Given the description of an element on the screen output the (x, y) to click on. 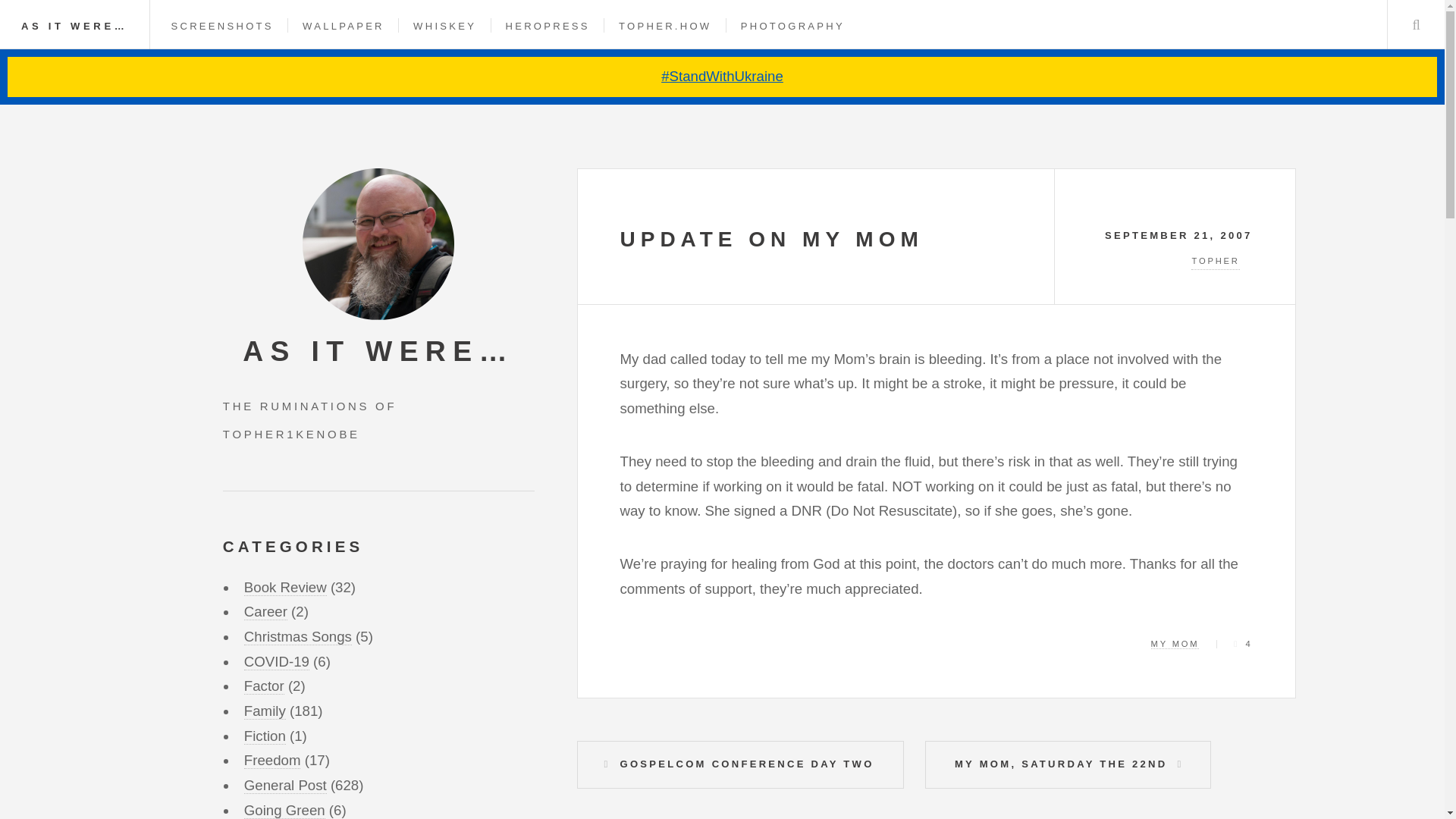
4 (1242, 643)
Christmas Songs (298, 636)
HEROPRESS (547, 25)
Family (264, 710)
Book Review (285, 587)
Freedom (272, 760)
WALLPAPER (343, 25)
TOPHER (1174, 261)
SCREENSHOTS (222, 25)
COVID-19 (276, 661)
TOPHER.HOW (664, 25)
Going Green (284, 810)
Stand With Ukraine (722, 76)
GOSPELCOM CONFERENCE DAY TWO (739, 764)
Career (265, 611)
